Given the description of an element on the screen output the (x, y) to click on. 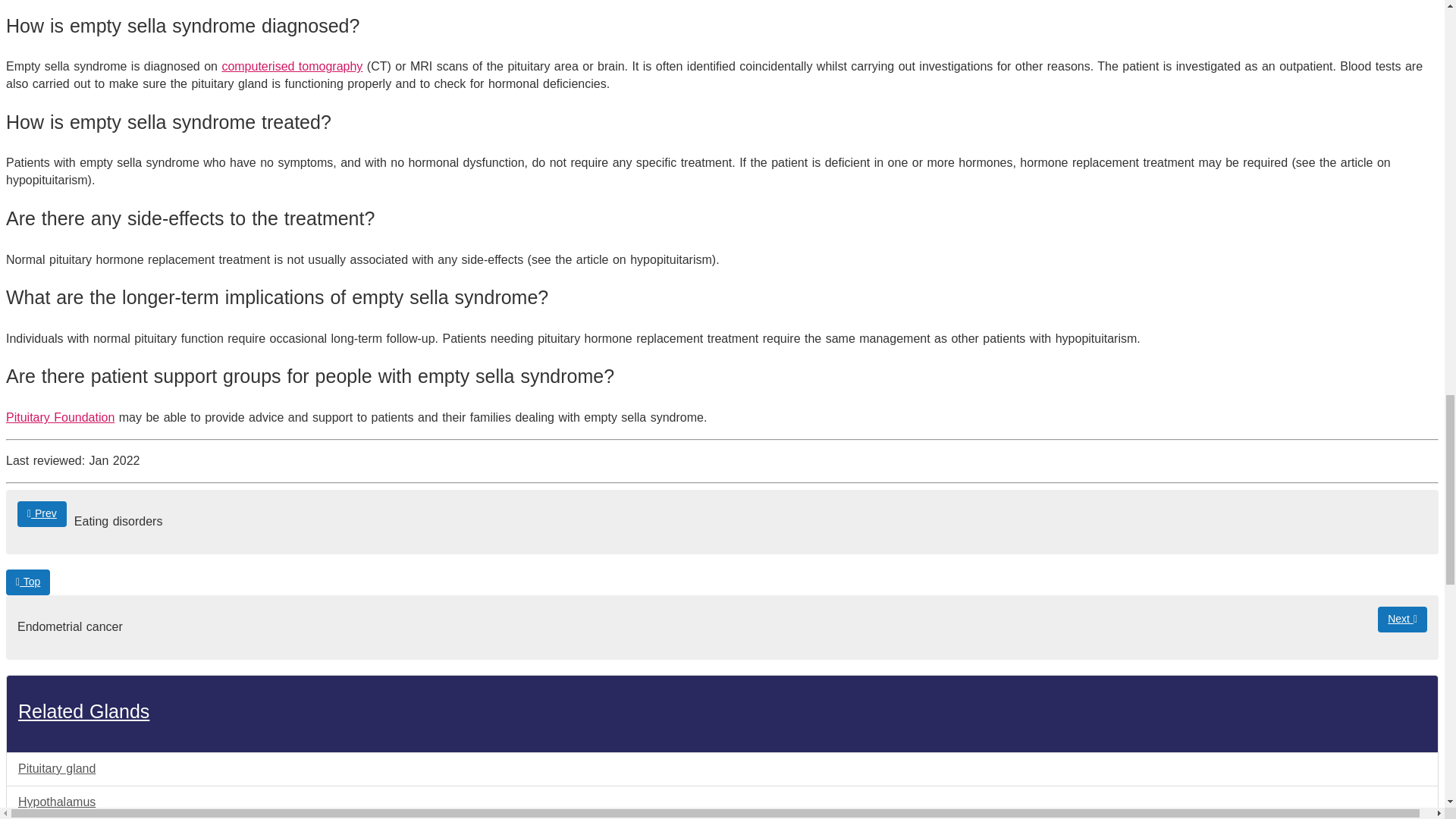
computerised tomography (291, 65)
Prev (41, 514)
Pituitary Foundation (60, 417)
computerised tomography (291, 65)
